Given the description of an element on the screen output the (x, y) to click on. 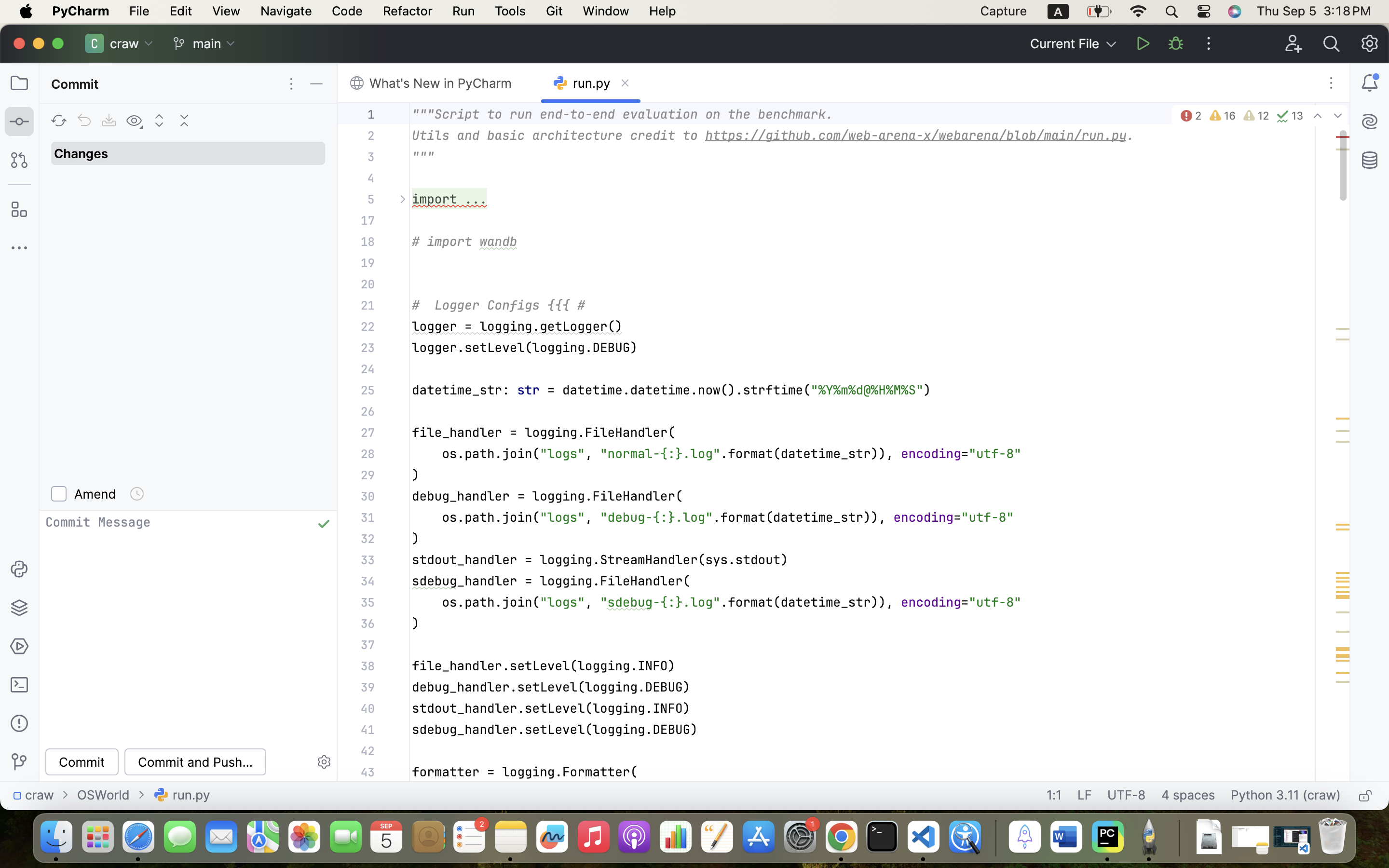
Commit Element type: AXStaticText (76, 83)
4 spaces Element type: AXStaticText (1188, 795)
0 Element type: AXOutline (187, 307)
Make file read-only Element type: AXStaticText (1363, 796)
0 Element type: AXCheckBox (85, 493)
